Given the description of an element on the screen output the (x, y) to click on. 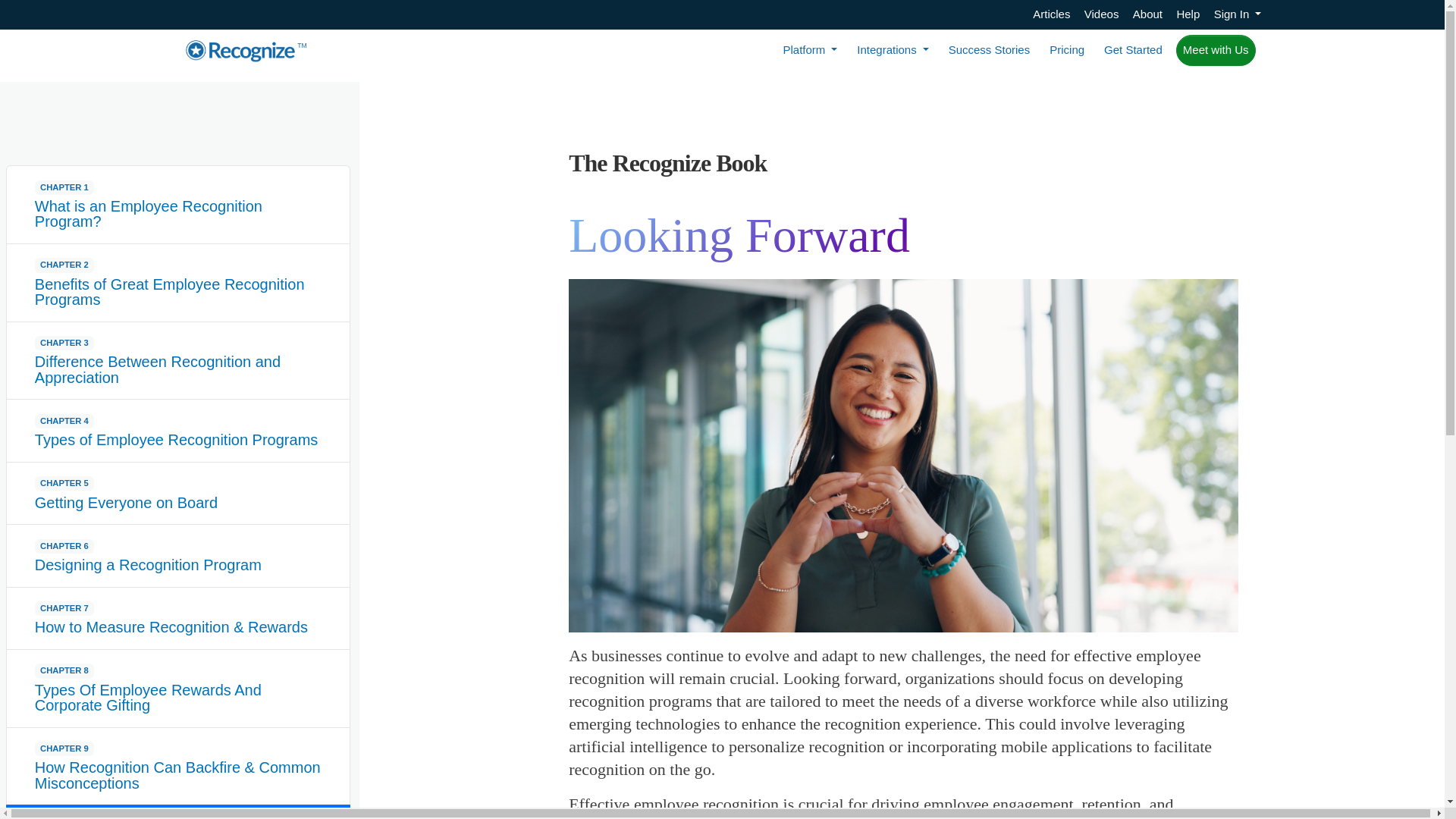
TM (246, 50)
Integrations (892, 49)
Platform (809, 49)
Articles (1051, 13)
Videos (1101, 13)
About (1146, 13)
Help (1187, 13)
Sign In (1238, 14)
